Given the description of an element on the screen output the (x, y) to click on. 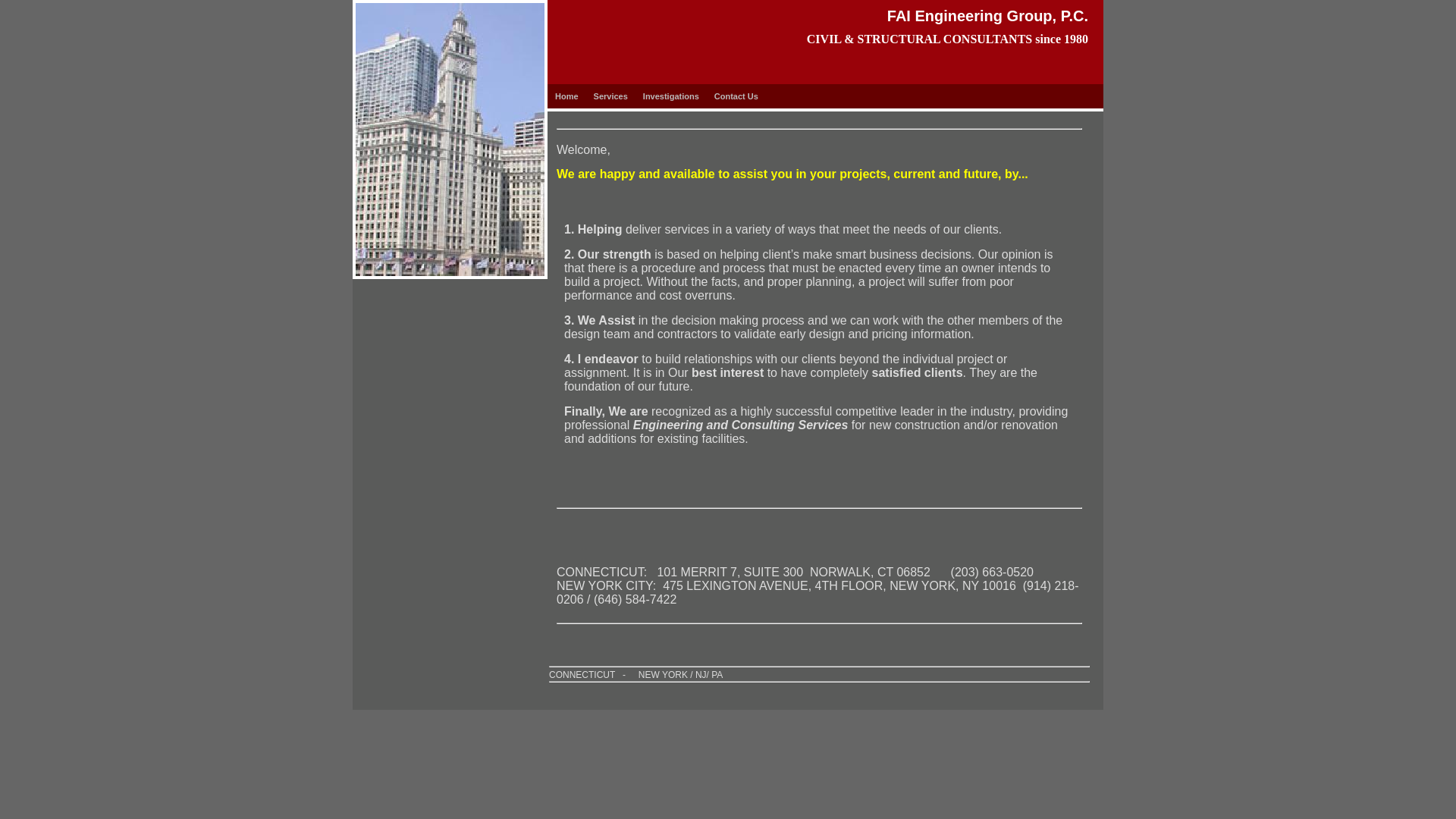
Home (566, 96)
Contact Us (735, 96)
Investigations (670, 96)
Services (610, 96)
